Given the description of an element on the screen output the (x, y) to click on. 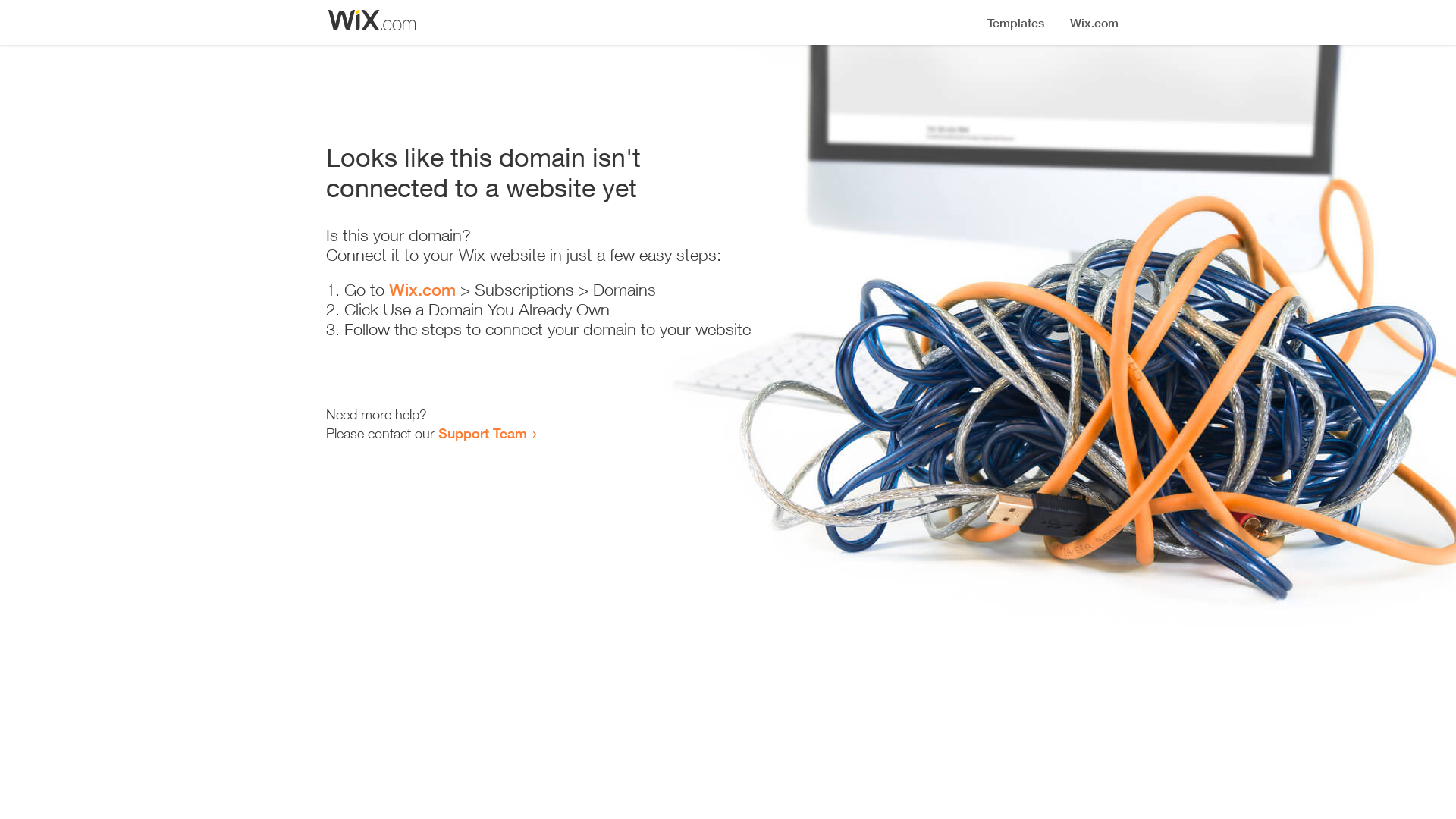
Support Team Element type: text (482, 432)
Wix.com Element type: text (422, 289)
